Given the description of an element on the screen output the (x, y) to click on. 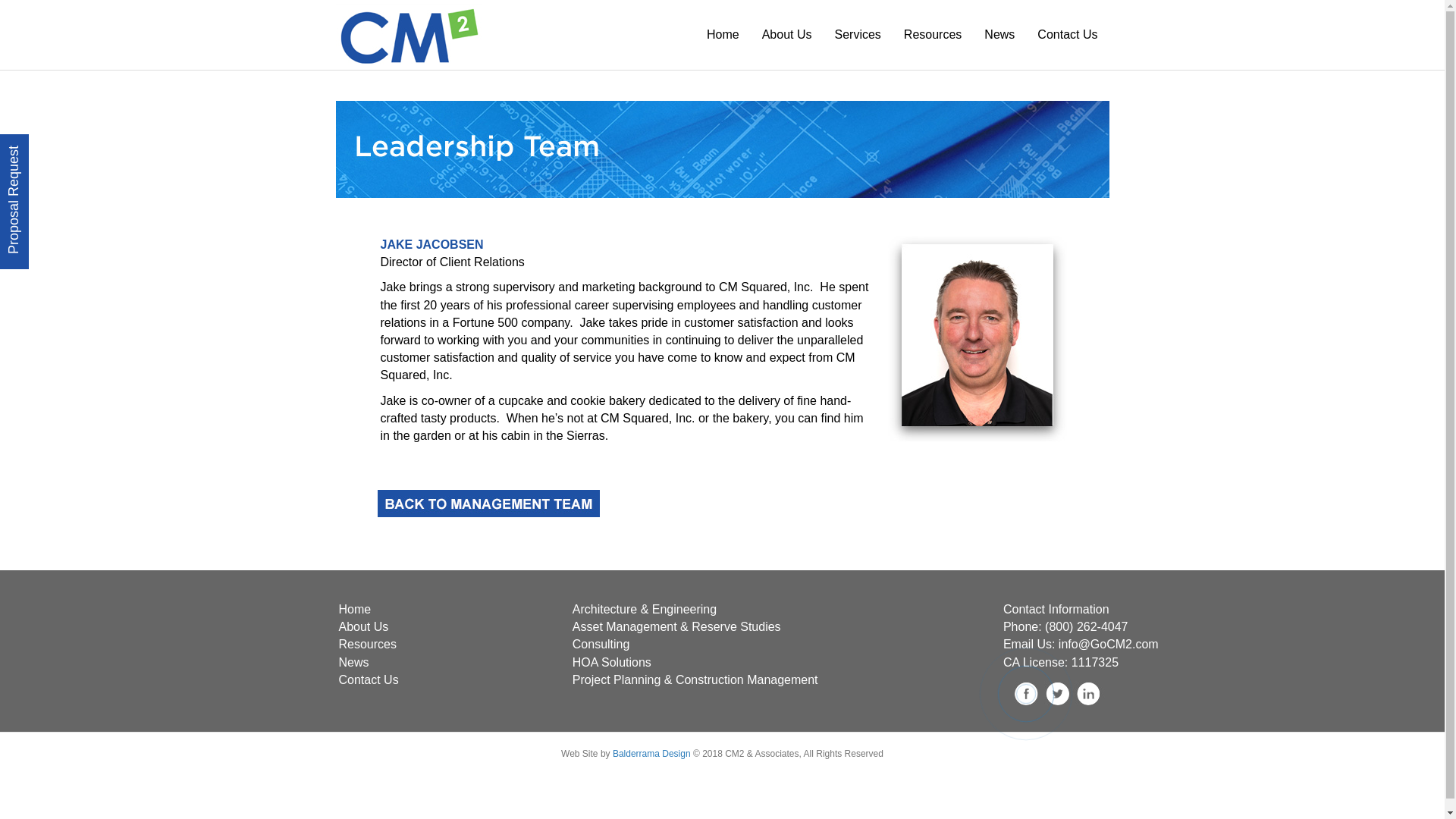
Home (354, 608)
Resources (366, 644)
Resources (932, 34)
LeadershipTeam (721, 149)
Twittericon (1057, 693)
Balderrama Design (650, 753)
Contact Us (367, 679)
Consulting (601, 644)
About Us (362, 626)
Services (856, 34)
